Given the description of an element on the screen output the (x, y) to click on. 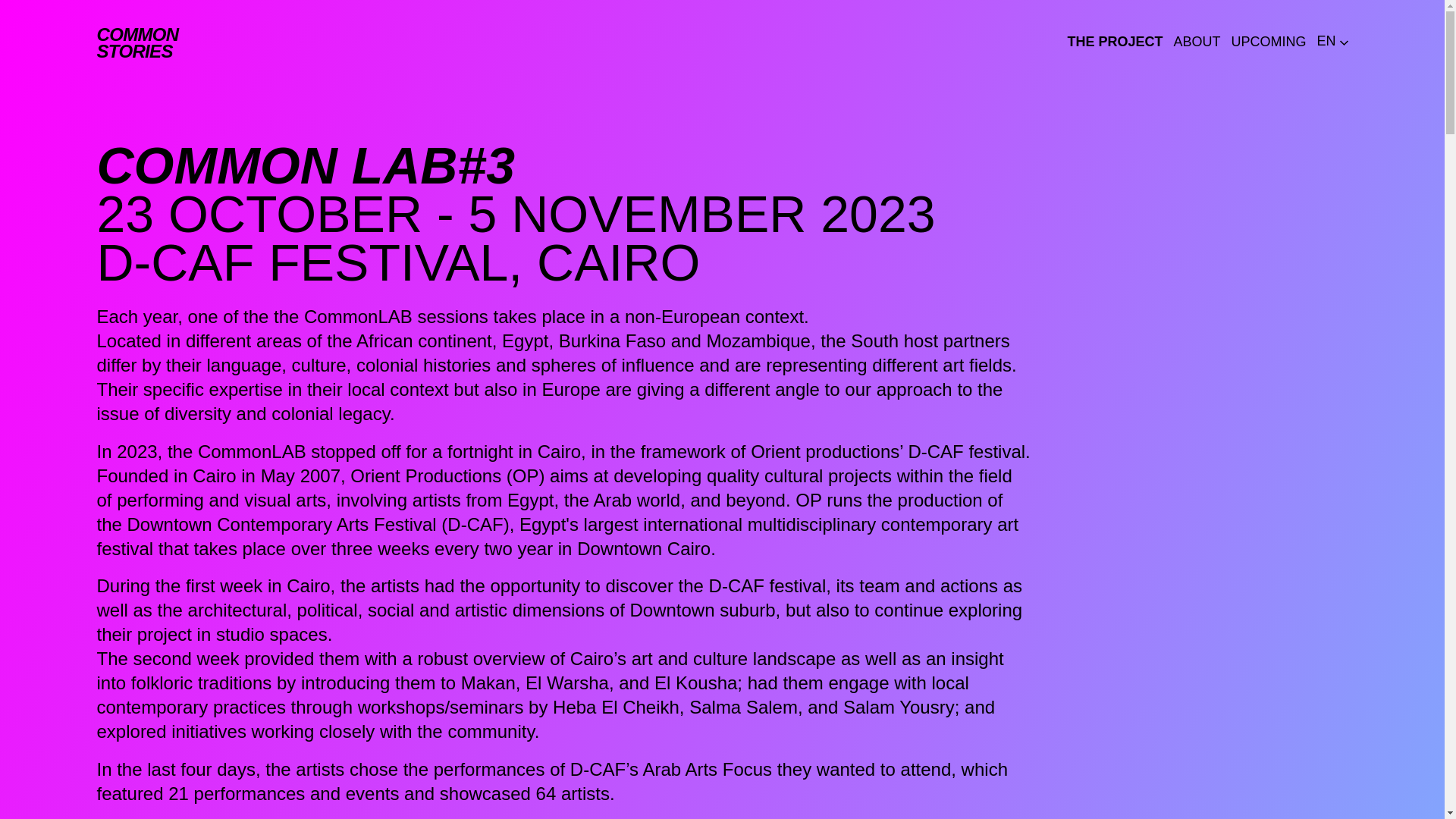
THE PROJECT (1114, 42)
EN (1332, 41)
UPCOMING (138, 42)
ABOUT (1268, 41)
